Given the description of an element on the screen output the (x, y) to click on. 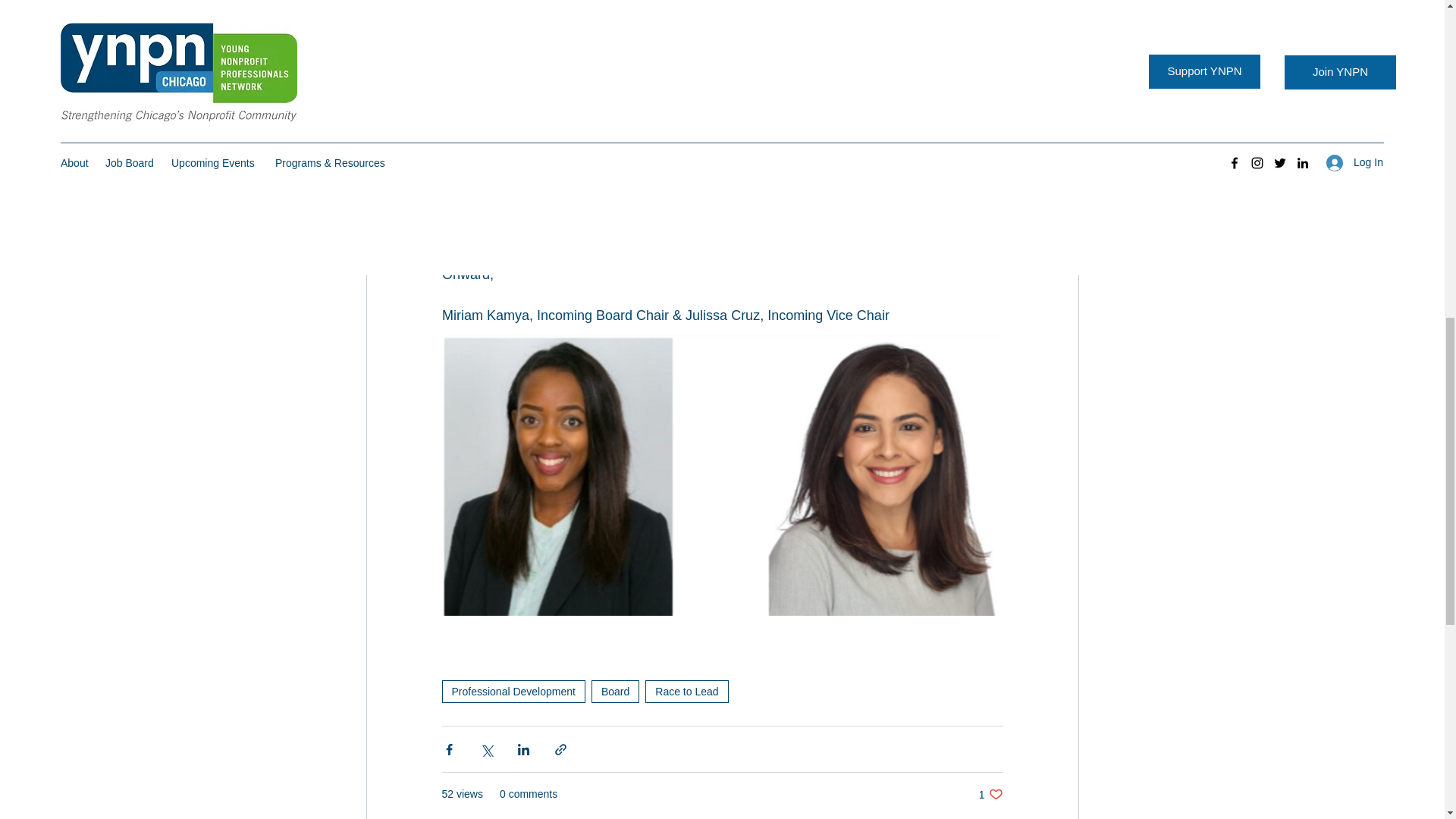
Professional Development (990, 794)
Board (513, 691)
Race to Lead (615, 691)
